Given the description of an element on the screen output the (x, y) to click on. 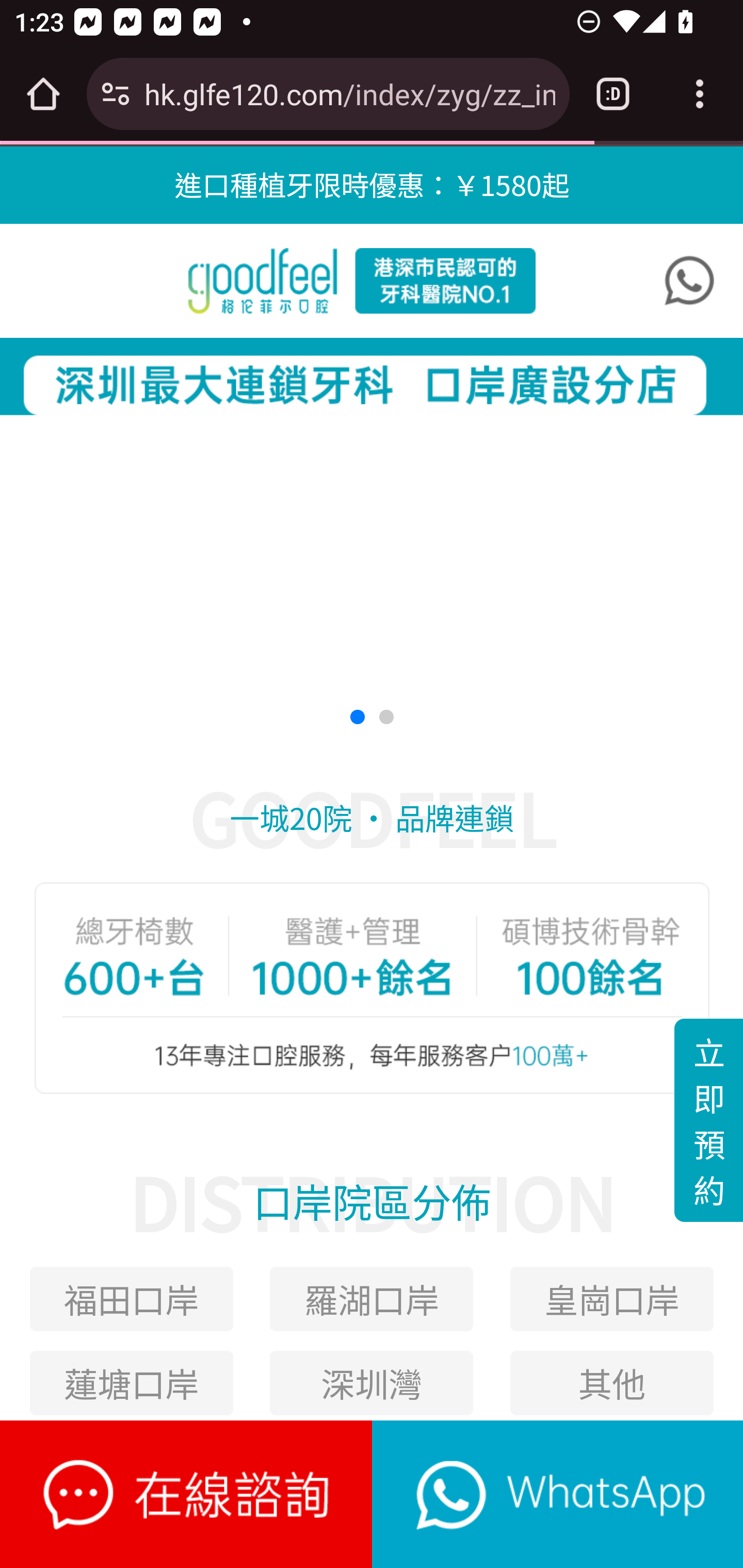
Open the home page (43, 93)
Connection is secure (115, 93)
Switch or close tabs (612, 93)
Customize and control Google Chrome (699, 93)
692056bef1a6f9a01fd225b4096c9e5f (689, 280)
立 即 預 約 立 即 預 約 (708, 1120)
福田口岸 (131, 1298)
羅湖口岸 (371, 1298)
皇崗口岸 (611, 1298)
蓮塘口岸 (131, 1382)
深圳灣 (371, 1382)
其他 (612, 1382)
javascript:lrminiMax(); (186, 1493)
javascript:addMessage(); (557, 1493)
